Given the description of an element on the screen output the (x, y) to click on. 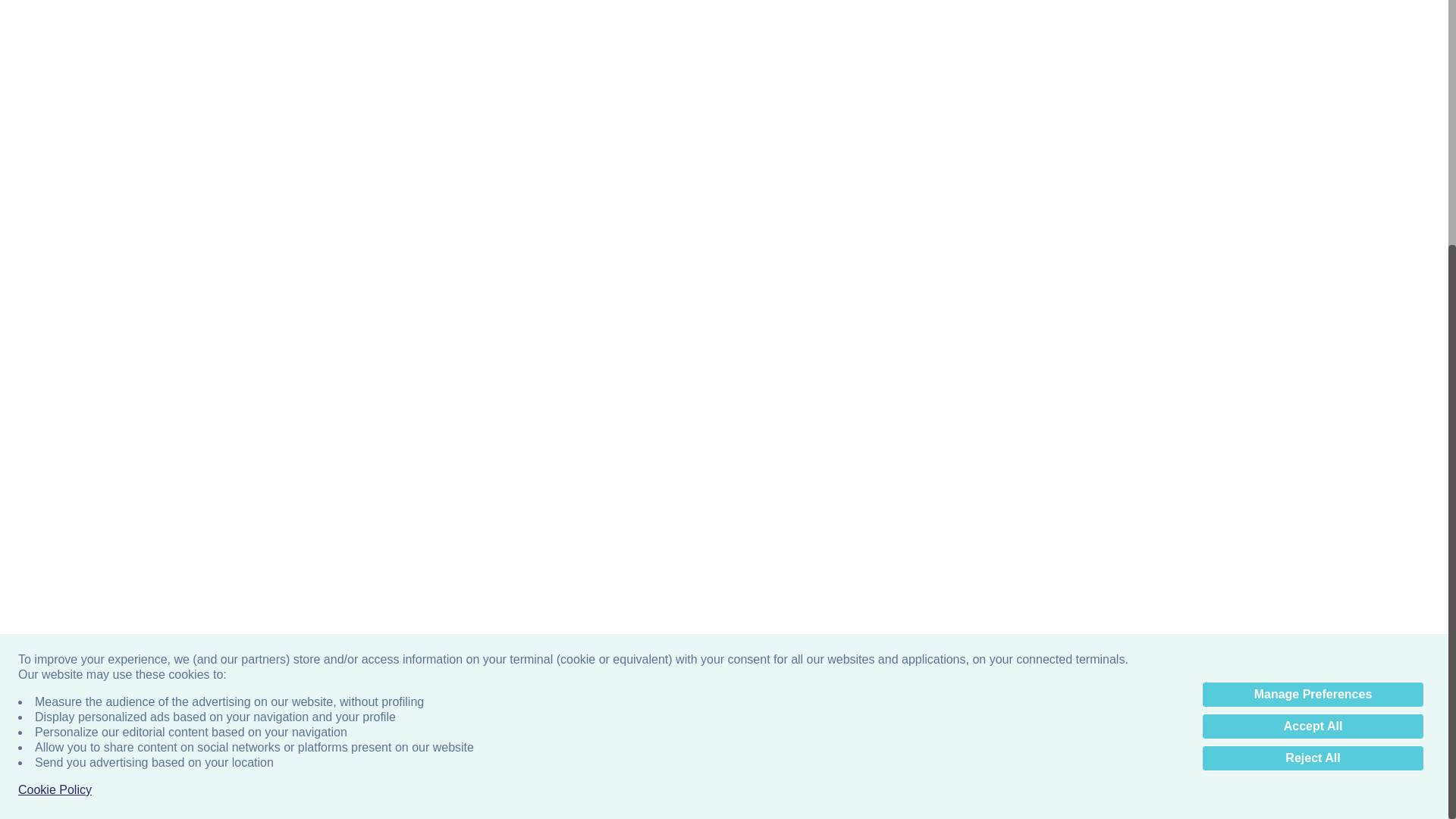
Accept All (1312, 377)
Reject All (1312, 409)
Manage Preferences (1312, 345)
Cookie Policy (54, 441)
